Given the description of an element on the screen output the (x, y) to click on. 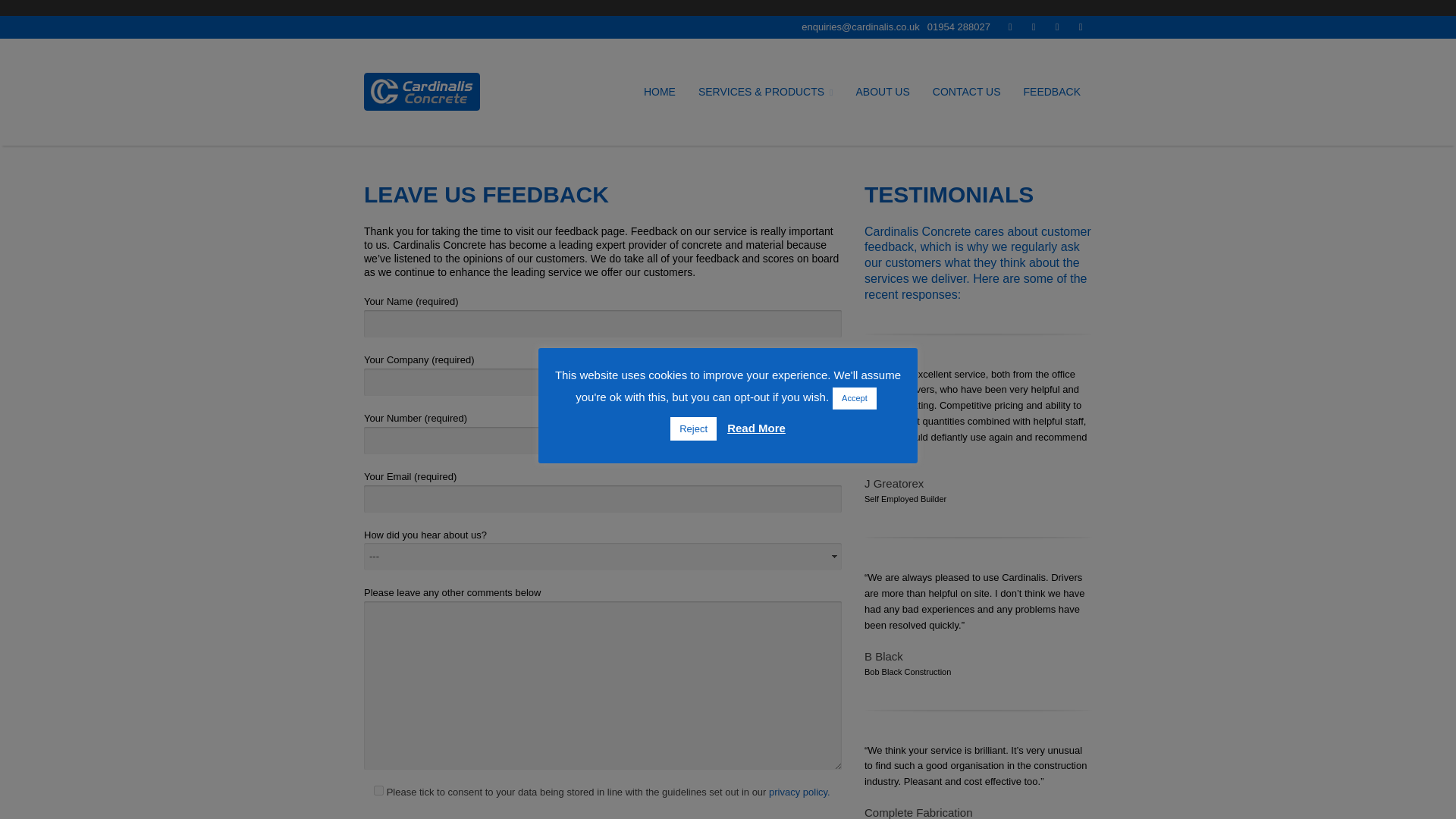
HOME (659, 91)
privacy policy. (798, 791)
FEEDBACK (1051, 91)
ABOUT US (882, 91)
CONTACT US (966, 91)
1 (379, 790)
